Given the description of an element on the screen output the (x, y) to click on. 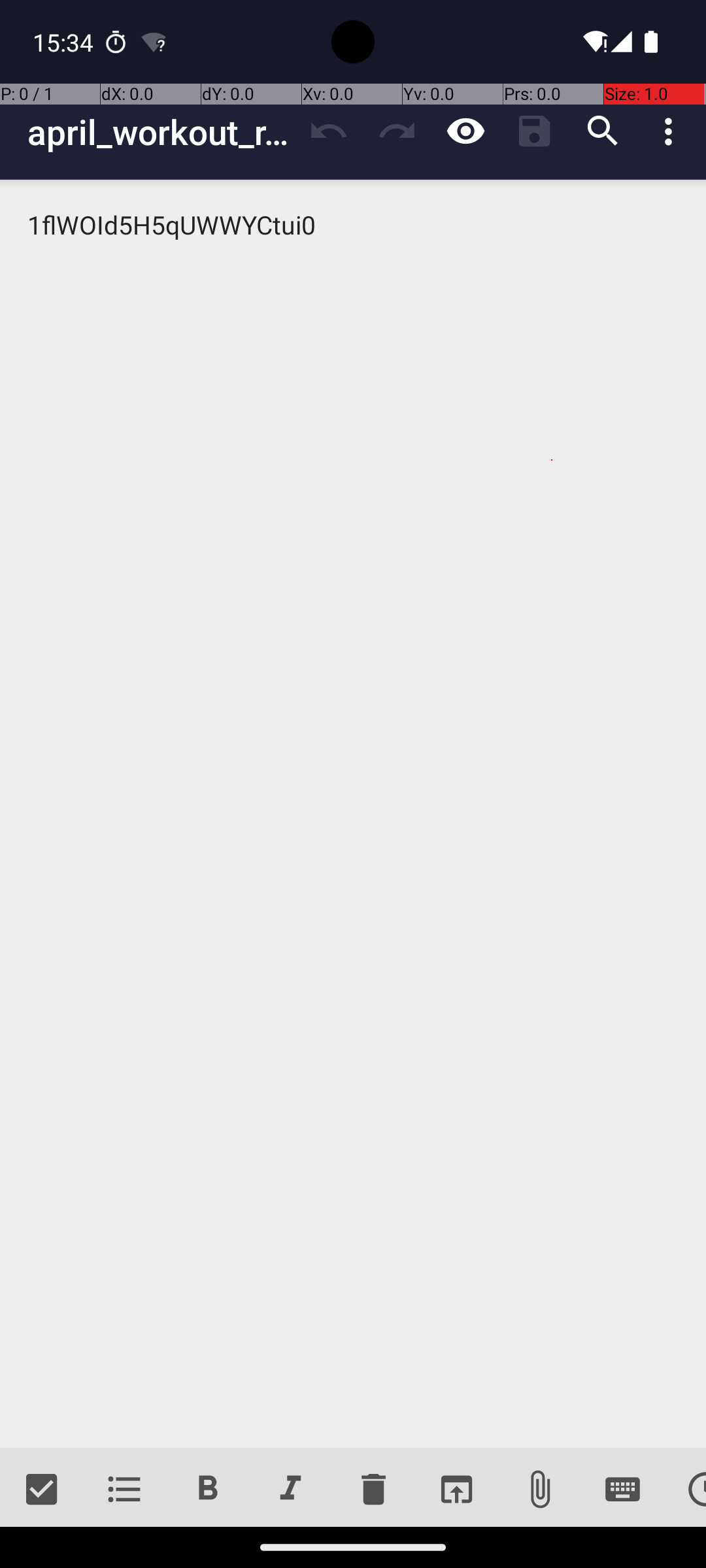
april_workout_routine_copy Element type: android.widget.TextView (160, 131)
1flWOId5H5qUWWYCtui0
 Element type: android.widget.EditText (353, 813)
